Given the description of an element on the screen output the (x, y) to click on. 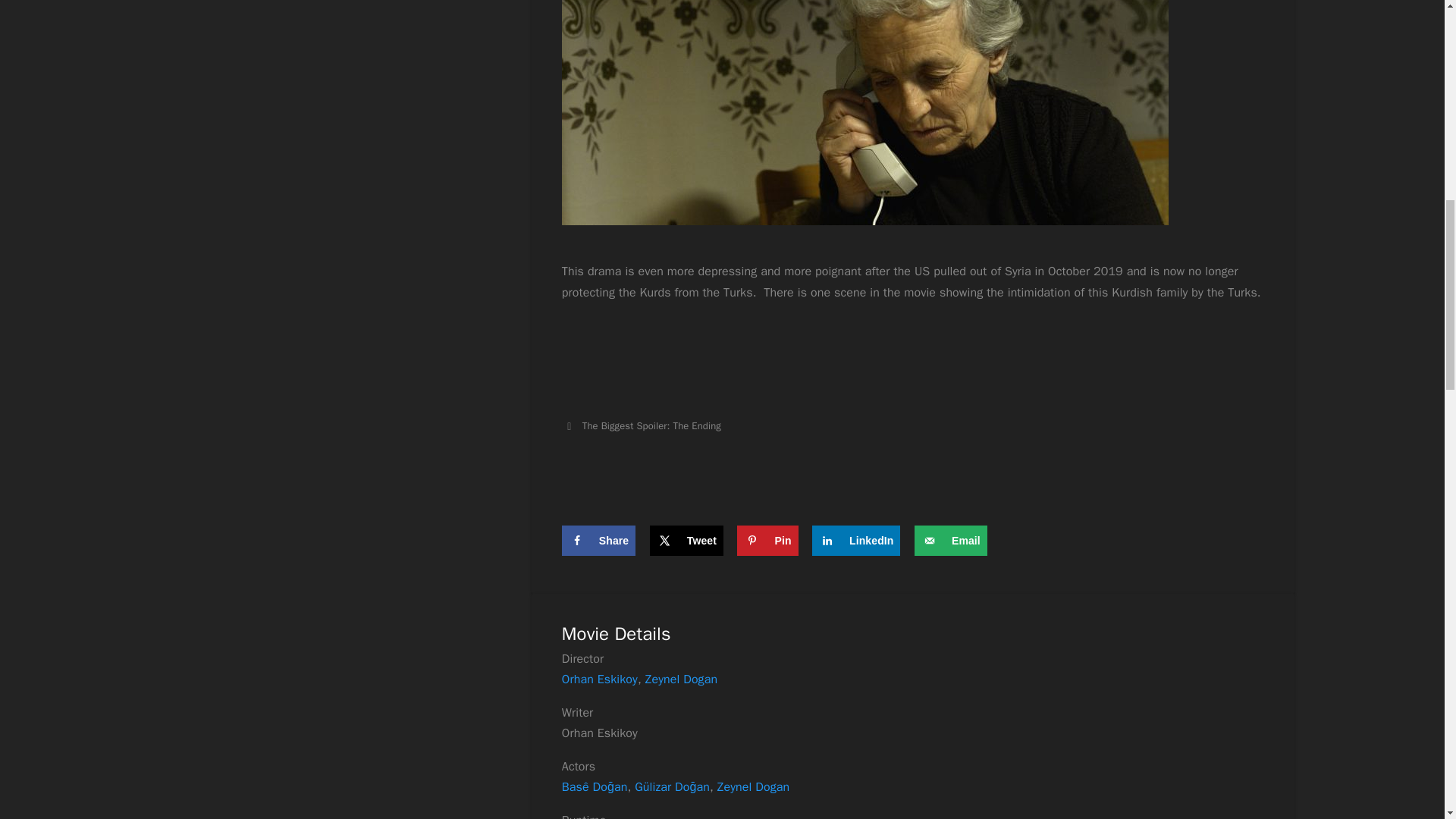
Share (598, 540)
Tweet (686, 540)
Zeynel Dogan (681, 679)
Orhan Eskikoy (599, 679)
Zeynel Dogan (753, 786)
Email (950, 540)
LinkedIn (855, 540)
More movies from Orhan Eskikoy (599, 679)
Pin (766, 540)
Send over email (950, 540)
